Given the description of an element on the screen output the (x, y) to click on. 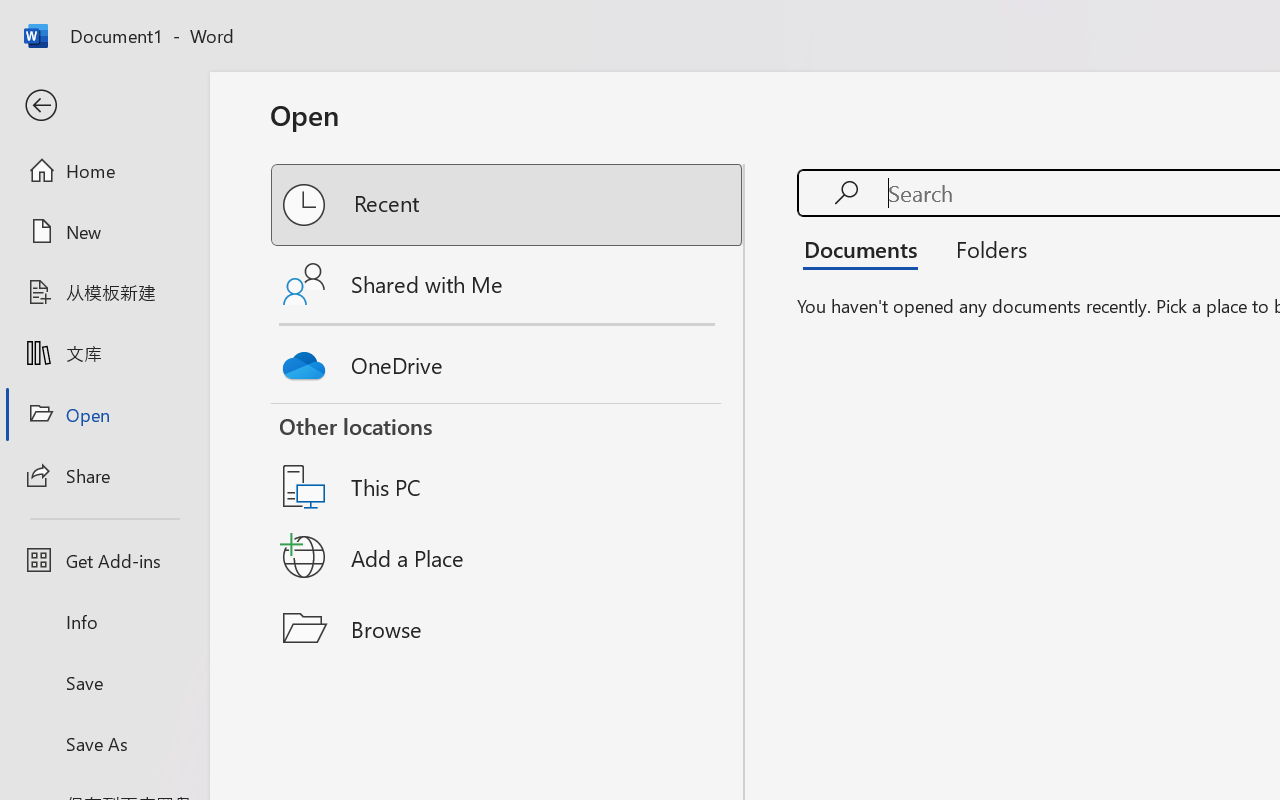
Info (104, 621)
This PC (507, 461)
New (104, 231)
Back (104, 106)
